Given the description of an element on the screen output the (x, y) to click on. 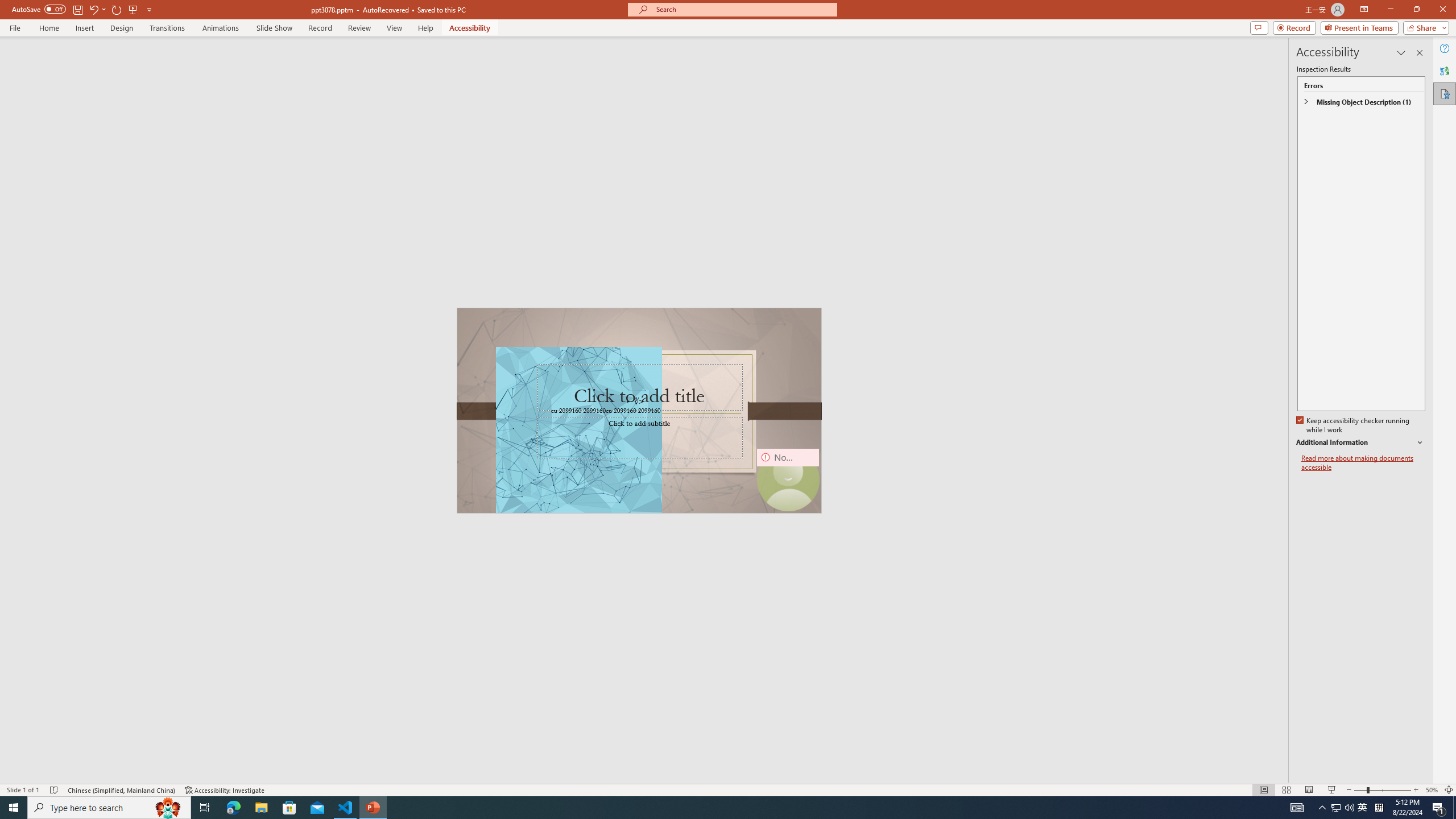
Reading View (1308, 790)
Subtitle TextBox (639, 437)
AutoSave (38, 9)
Quick Access Toolbar (82, 9)
Class: MsoCommandBar (728, 789)
Design (122, 28)
Redo (117, 9)
Normal (1263, 790)
Translator (1444, 70)
Transitions (167, 28)
TextBox 61 (638, 411)
Home (48, 28)
